Given the description of an element on the screen output the (x, y) to click on. 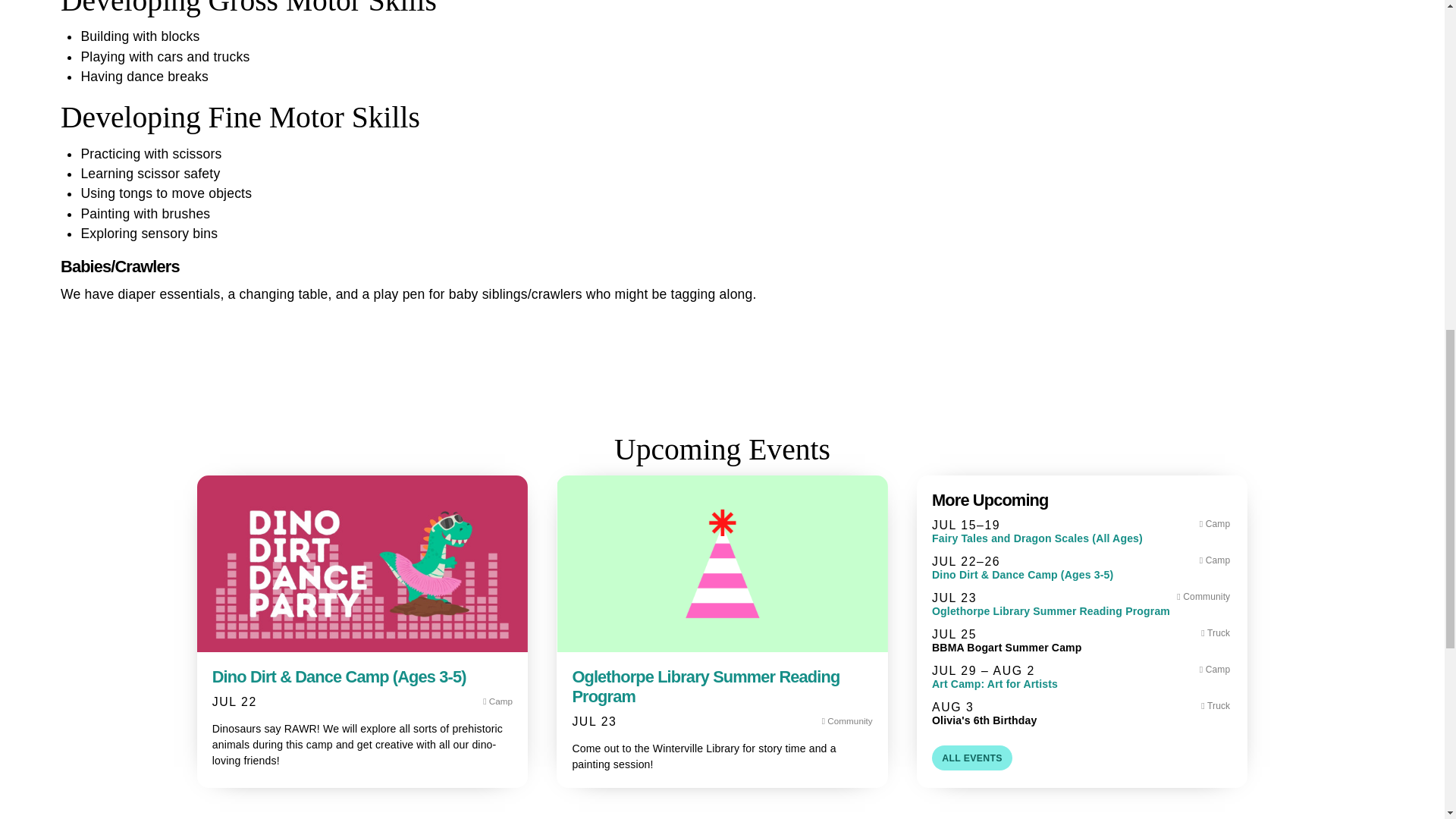
ALL EVENTS (971, 757)
Oglethorpe Library Summer Reading Program (1081, 611)
Oglethorpe Library Summer Reading Program (706, 686)
Art Camp: Art for Artists (1081, 684)
